Given the description of an element on the screen output the (x, y) to click on. 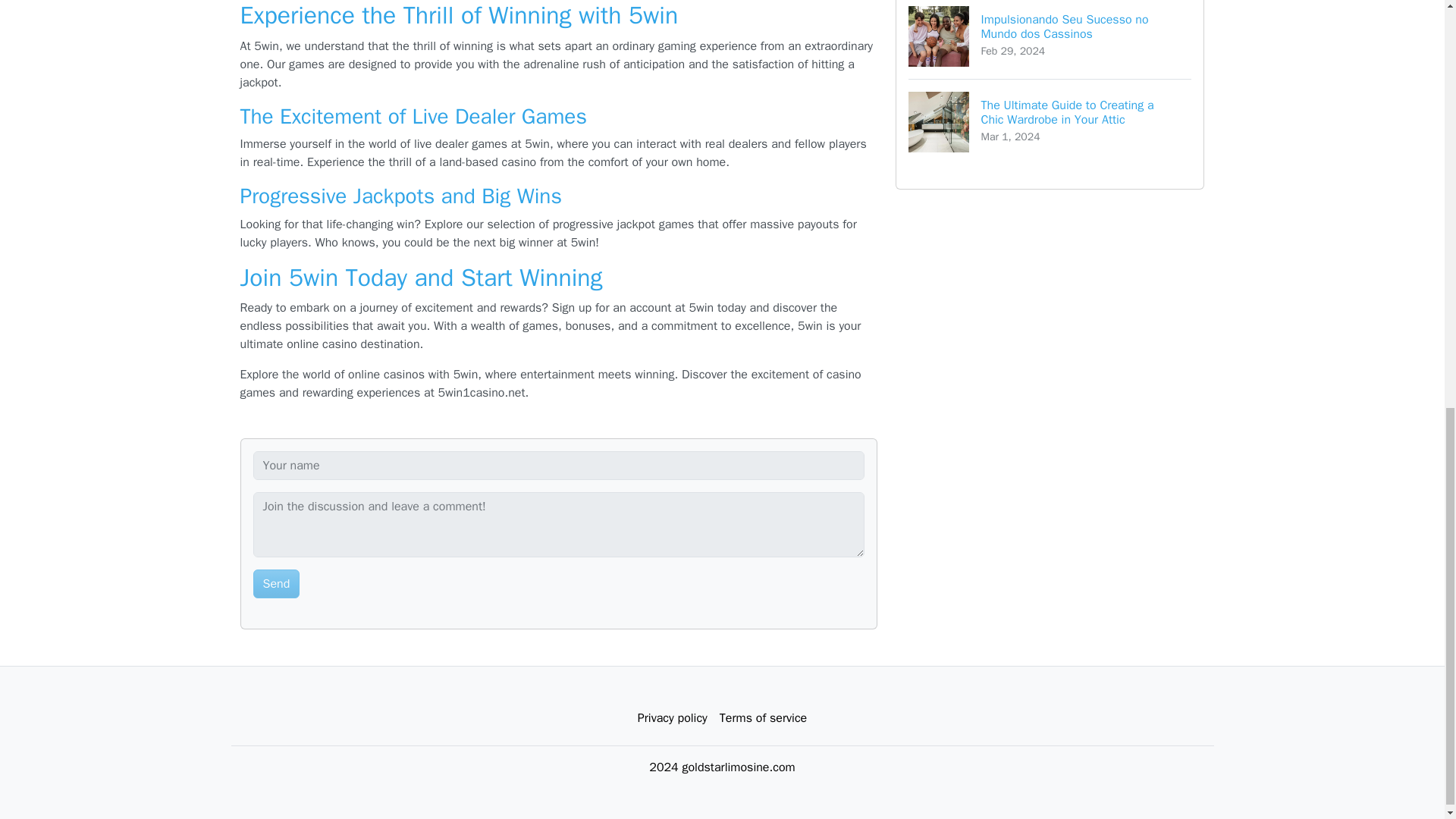
Send (276, 583)
Privacy policy (672, 717)
Terms of service (762, 717)
Send (276, 583)
